Given the description of an element on the screen output the (x, y) to click on. 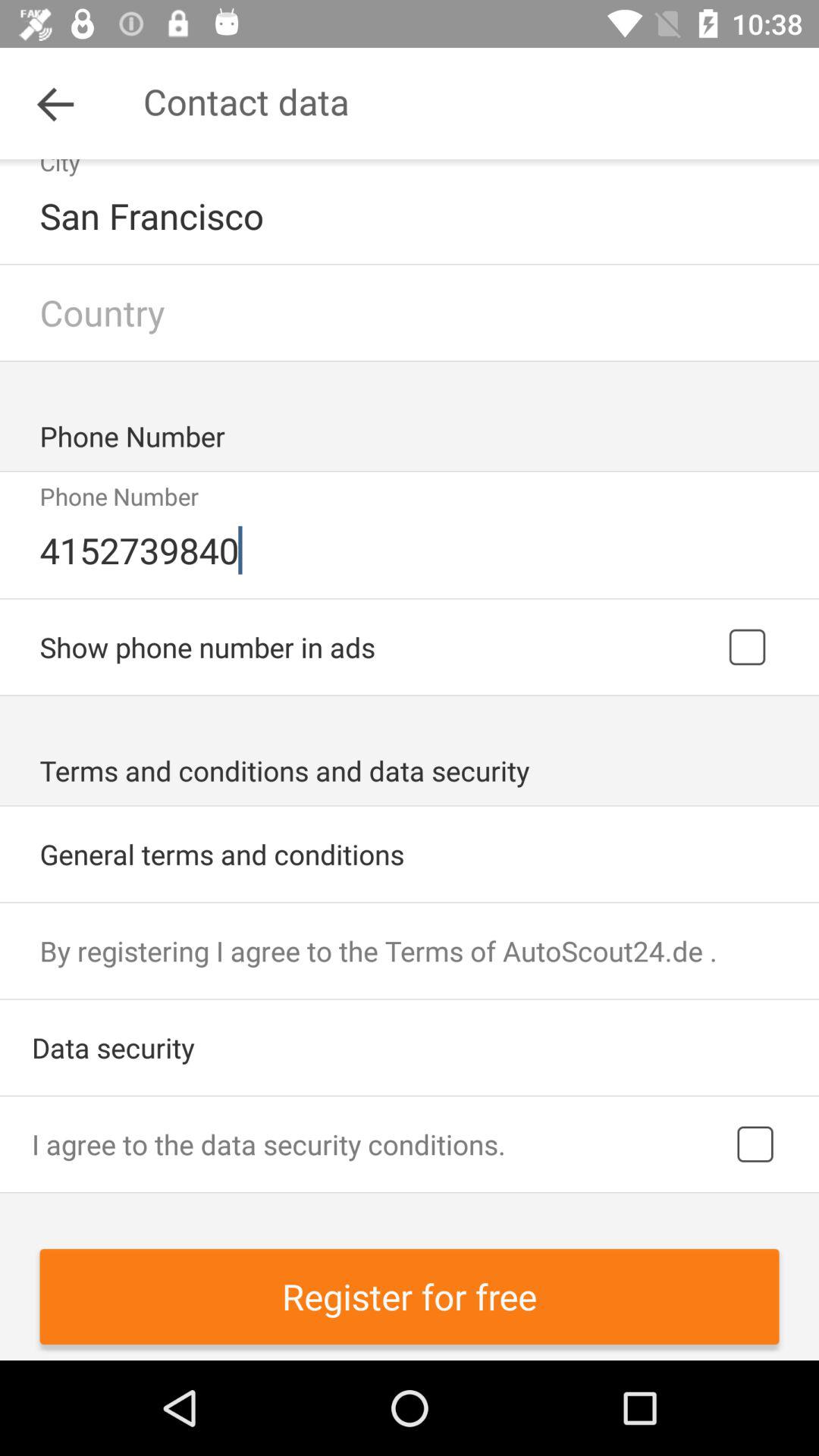
turn on register for free icon (409, 1296)
